Given the description of an element on the screen output the (x, y) to click on. 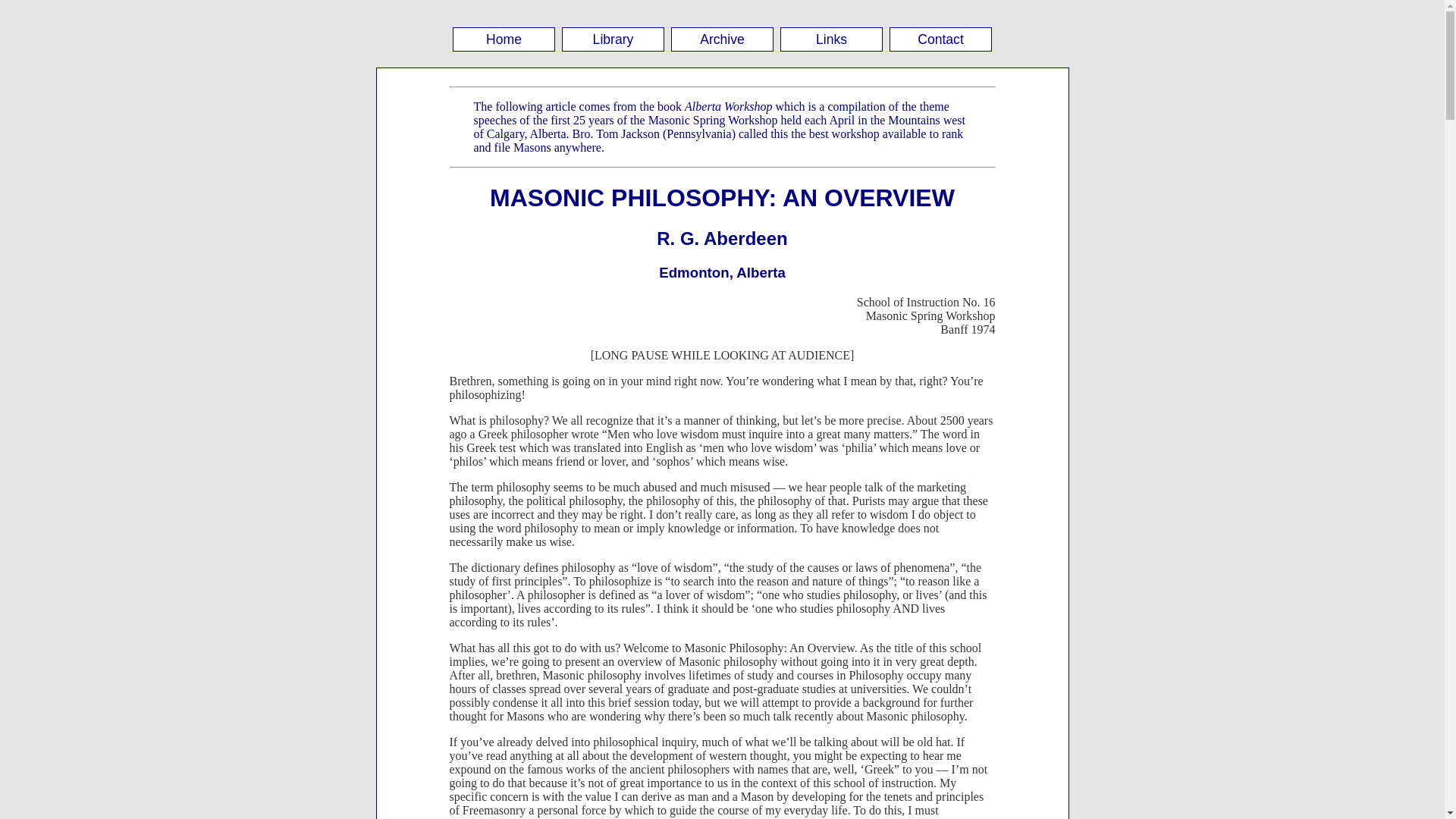
Contact (940, 39)
Library (612, 39)
Archive (722, 39)
Home (503, 39)
Links (831, 39)
